Given the description of an element on the screen output the (x, y) to click on. 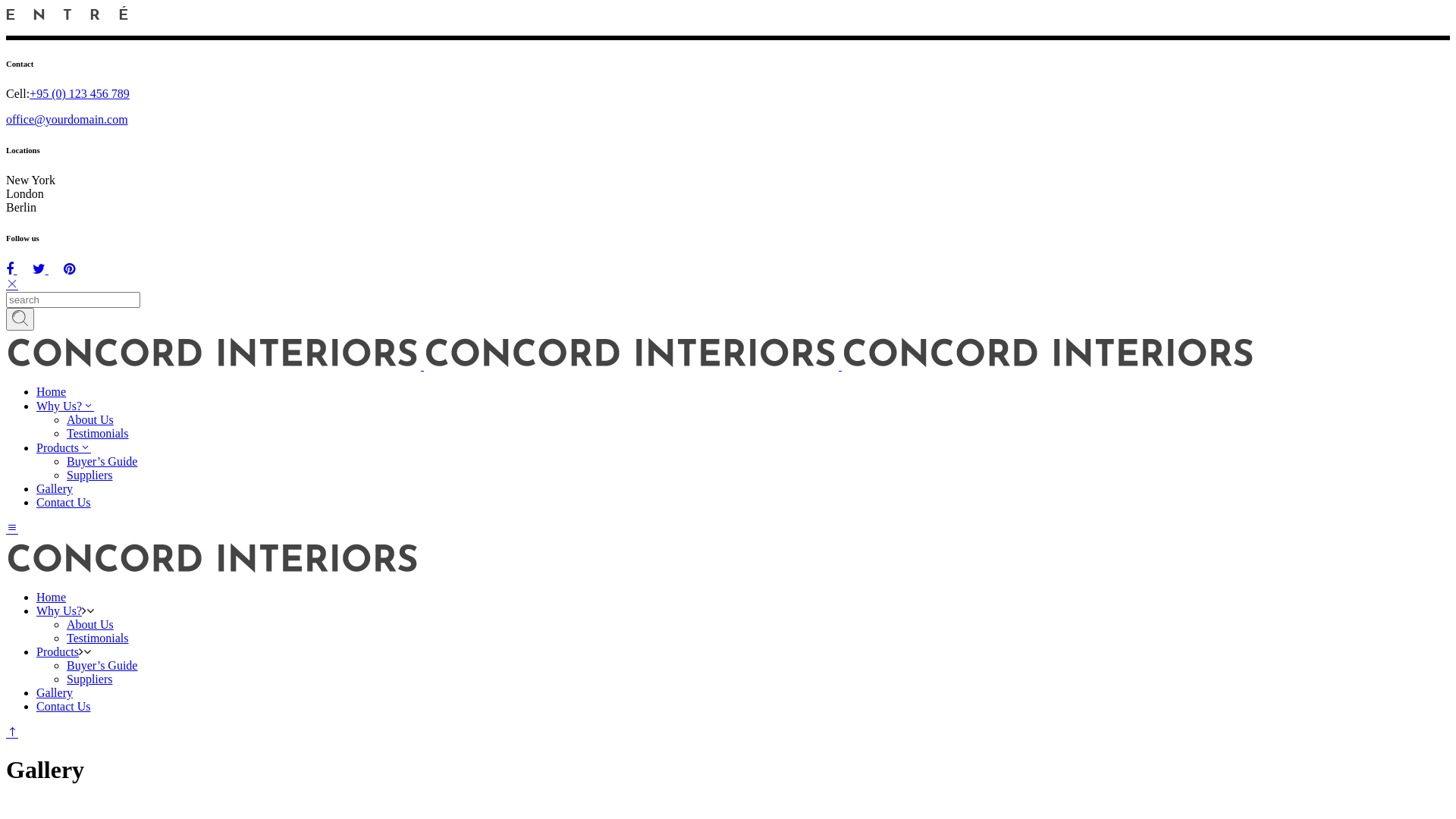
+95 (0) 123 456 789 Element type: text (79, 93)
Products Element type: text (57, 651)
About Us Element type: text (89, 624)
Gallery Element type: text (54, 692)
Testimonials Element type: text (97, 432)
Gallery Element type: text (54, 488)
Home Element type: text (50, 391)
Contact Us Element type: text (63, 705)
About Us Element type: text (89, 419)
office@yourdomain.com Element type: text (67, 118)
Why Us? Element type: text (58, 610)
Testimonials Element type: text (97, 637)
Products Element type: text (63, 447)
Why Us? Element type: text (65, 405)
Contact Us Element type: text (63, 501)
Suppliers Element type: text (89, 678)
Home Element type: text (50, 596)
Suppliers Element type: text (89, 474)
